Given the description of an element on the screen output the (x, y) to click on. 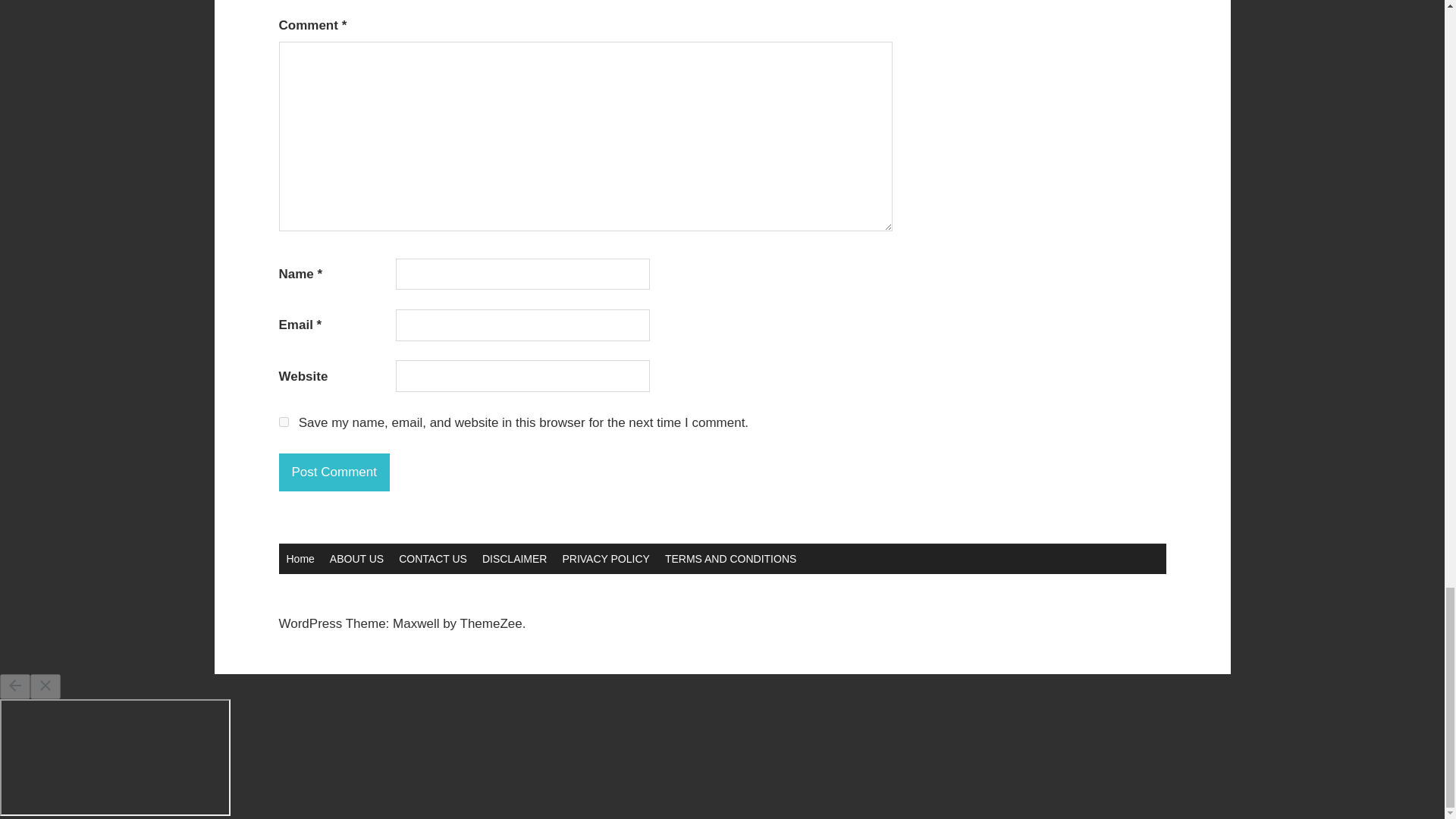
PRIVACY POLICY (605, 558)
DISCLAIMER (514, 558)
Post Comment (334, 472)
CONTACT US (432, 558)
ABOUT US (356, 558)
yes (283, 421)
TERMS AND CONDITIONS (730, 558)
Home (300, 558)
Post Comment (334, 472)
